Given the description of an element on the screen output the (x, y) to click on. 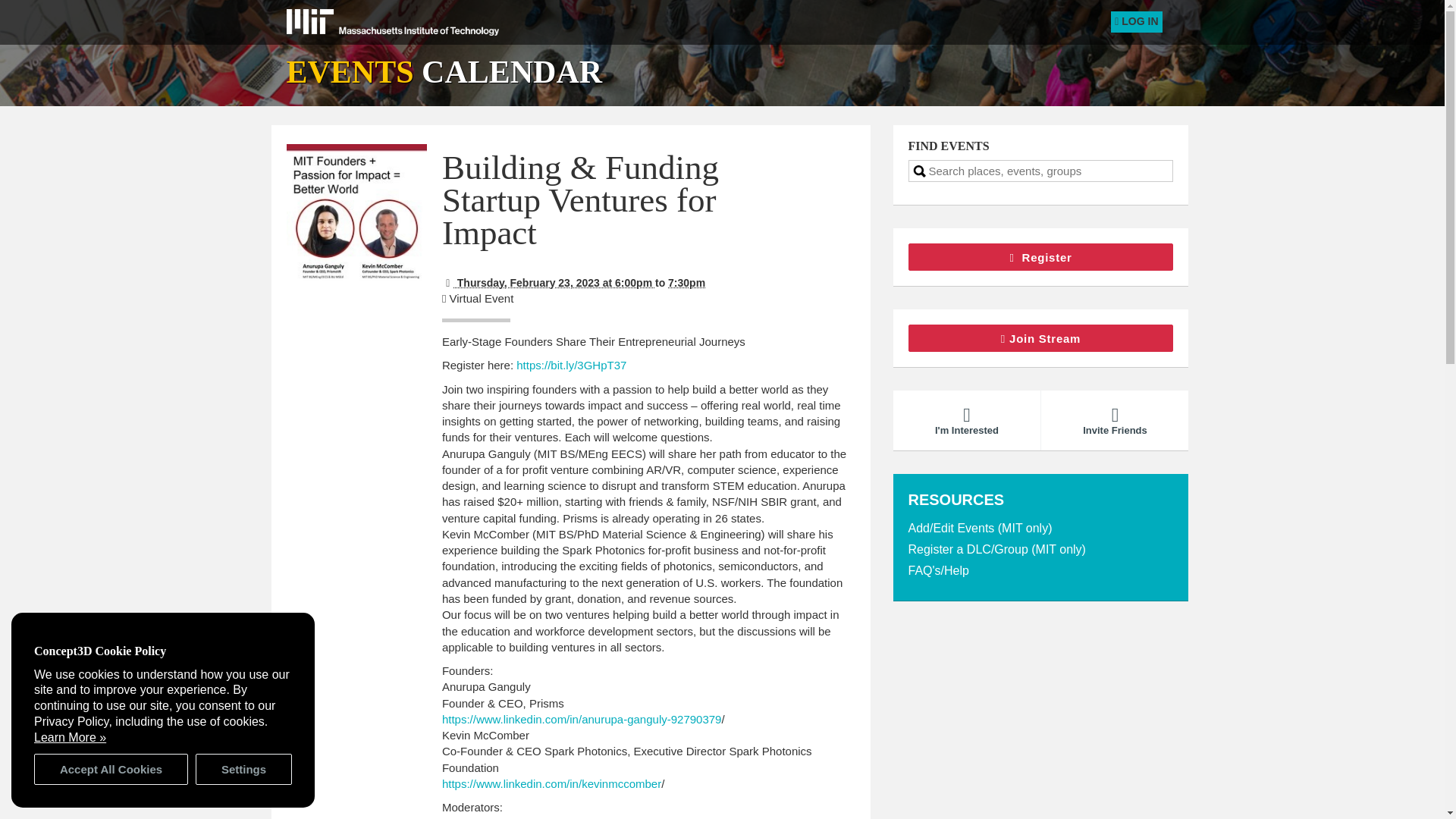
Register (1040, 257)
Join Stream (1040, 338)
I'm Interested (967, 420)
EVENTS CALENDAR (444, 71)
Invite Friends (1114, 420)
2023-02-23T19:30:00-05:00 (686, 282)
2023-02-23T18:00:00-05:00 (548, 282)
LOG IN (1135, 21)
